Given the description of an element on the screen output the (x, y) to click on. 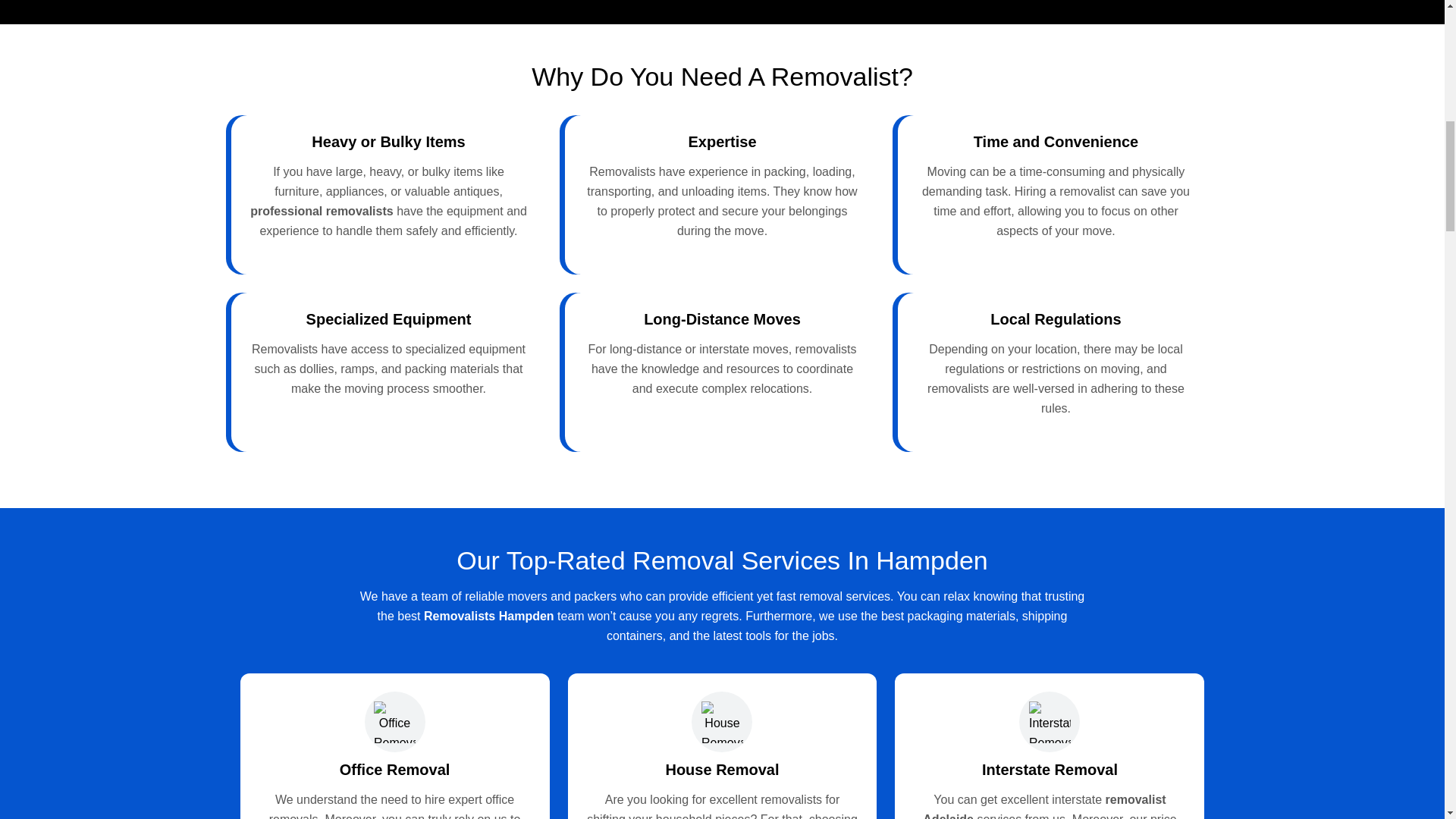
Office Removal (394, 769)
House Removal (721, 769)
moving (363, 388)
Interstate Removal (1049, 769)
